Given the description of an element on the screen output the (x, y) to click on. 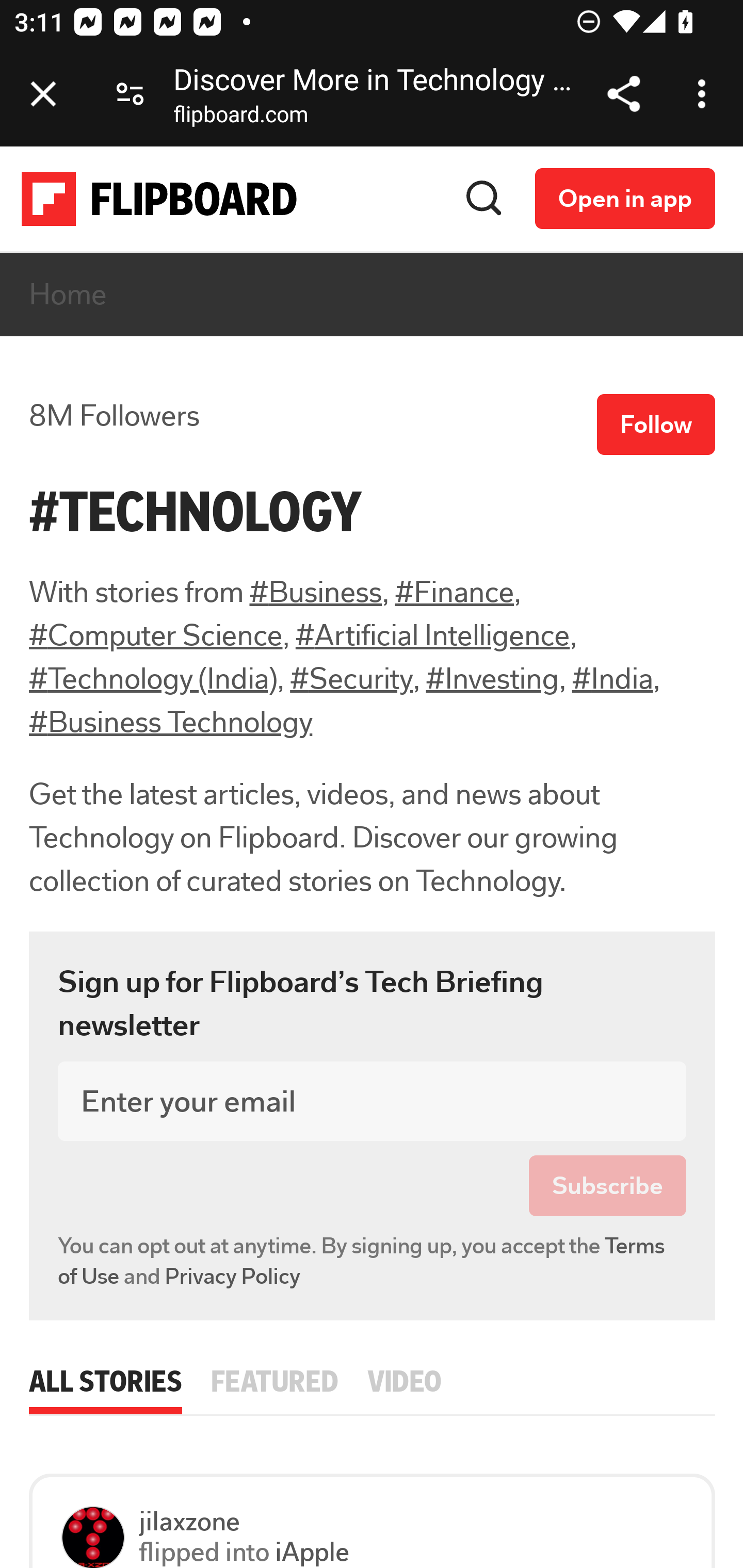
Close tab (43, 93)
Share link address (623, 93)
Customize and control Google Chrome (705, 93)
Connection is secure (129, 93)
flipboard.com (240, 117)
Open in app (625, 197)
Search (484, 198)
Home (68, 294)
Follow (655, 424)
# Business # Business (315, 592)
# Finance # Finance (453, 592)
# Computer Science # Computer Science (155, 635)
# Technology (India) # Technology (India) (152, 679)
# Security # Security (351, 679)
# Investing # Investing (491, 679)
# India # India (611, 679)
# Business Technology # Business Technology (171, 722)
